Given the description of an element on the screen output the (x, y) to click on. 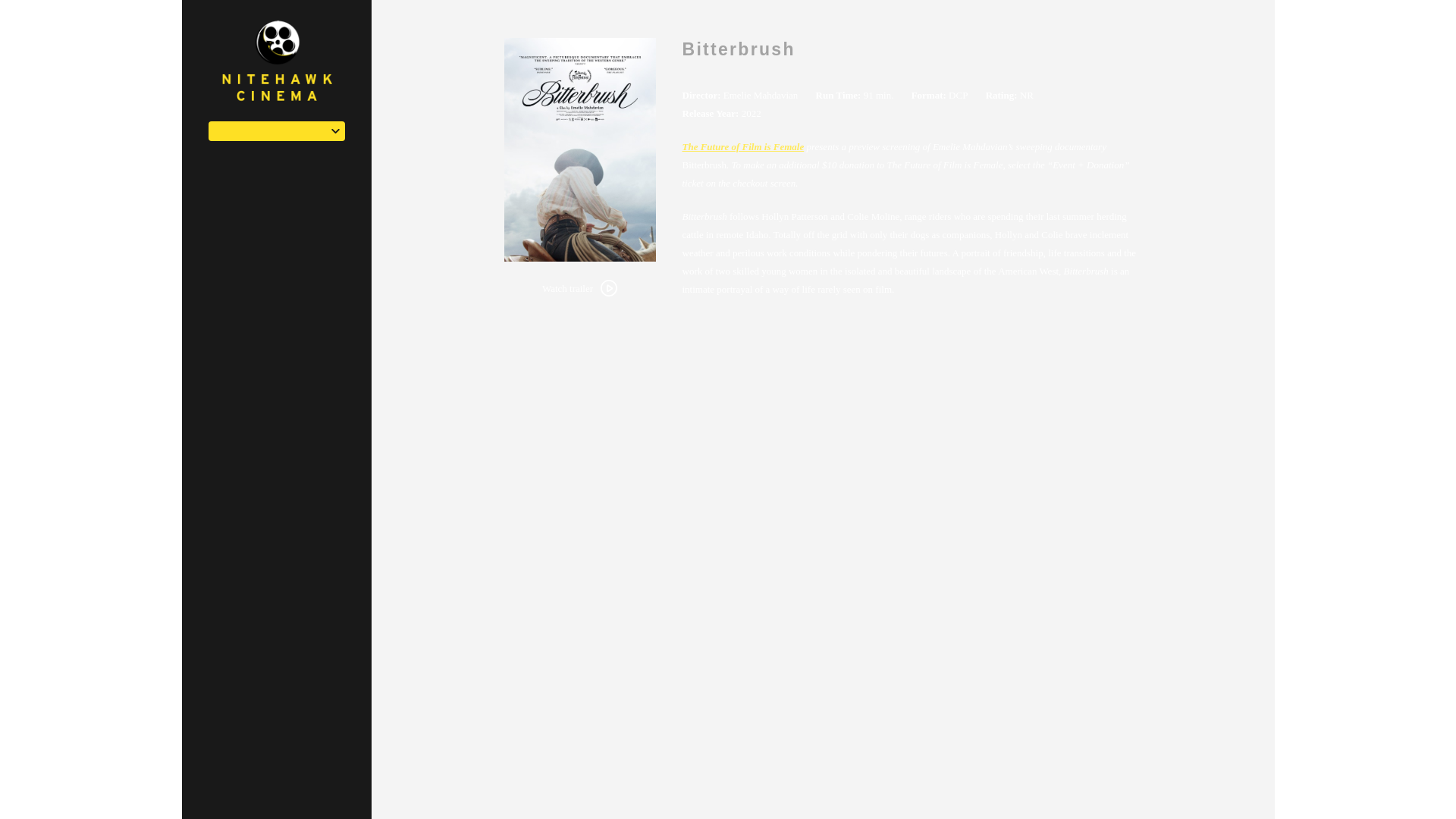
The Future of Film is Female (743, 146)
Watch trailer (579, 288)
